Given the description of an element on the screen output the (x, y) to click on. 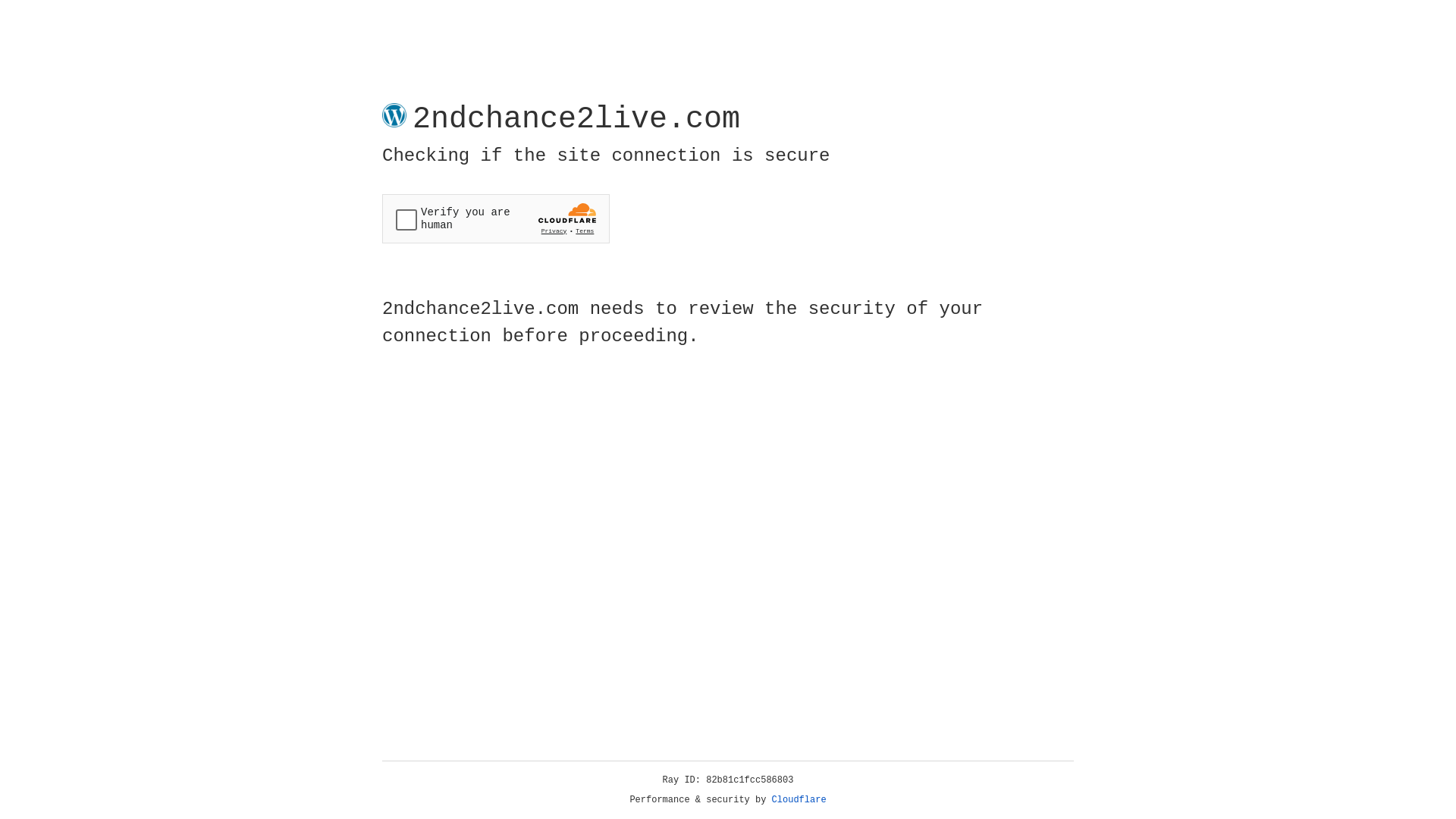
Widget containing a Cloudflare security challenge Element type: hover (495, 218)
Cloudflare Element type: text (798, 799)
